Given the description of an element on the screen output the (x, y) to click on. 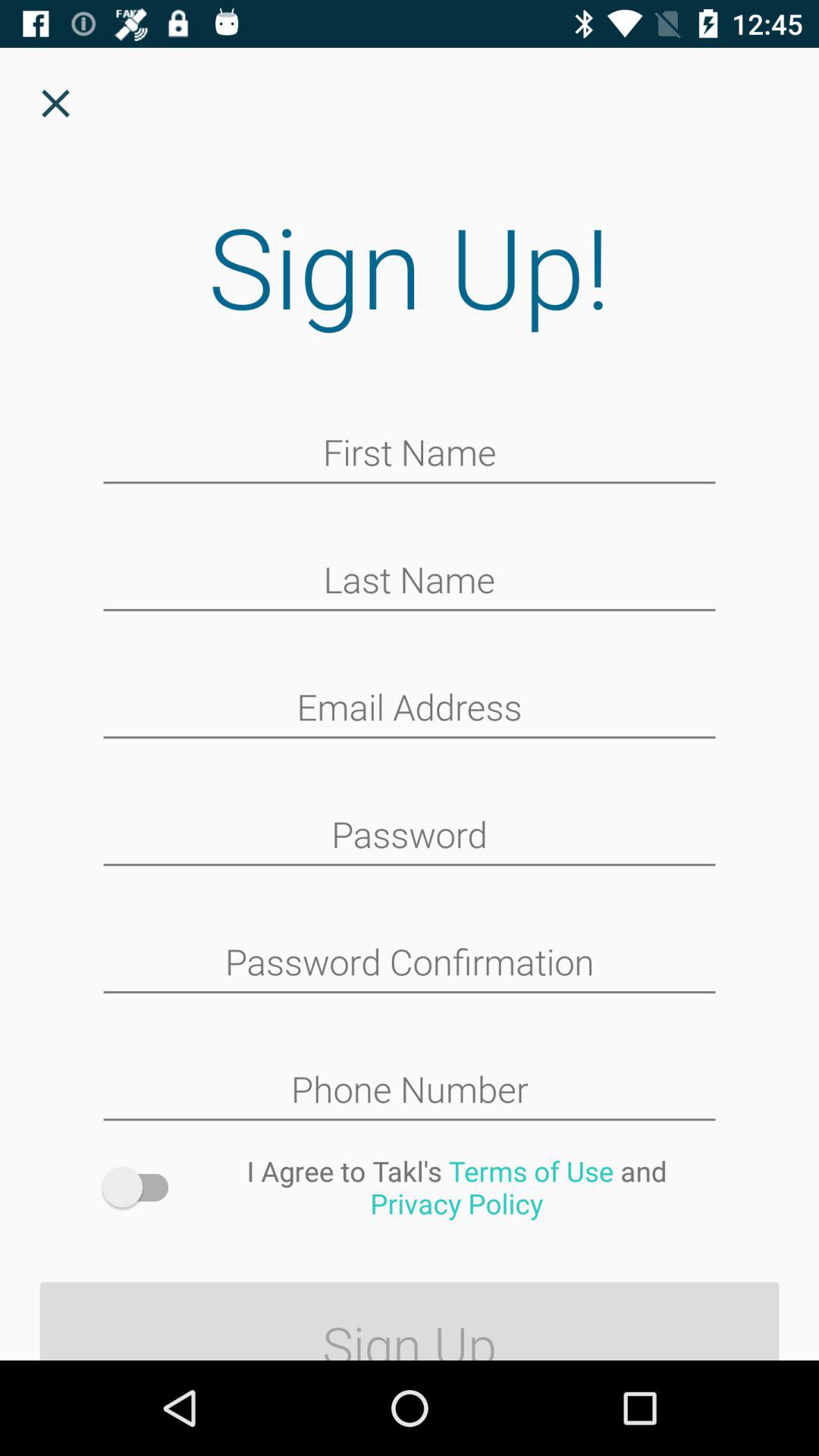
last name (409, 581)
